Given the description of an element on the screen output the (x, y) to click on. 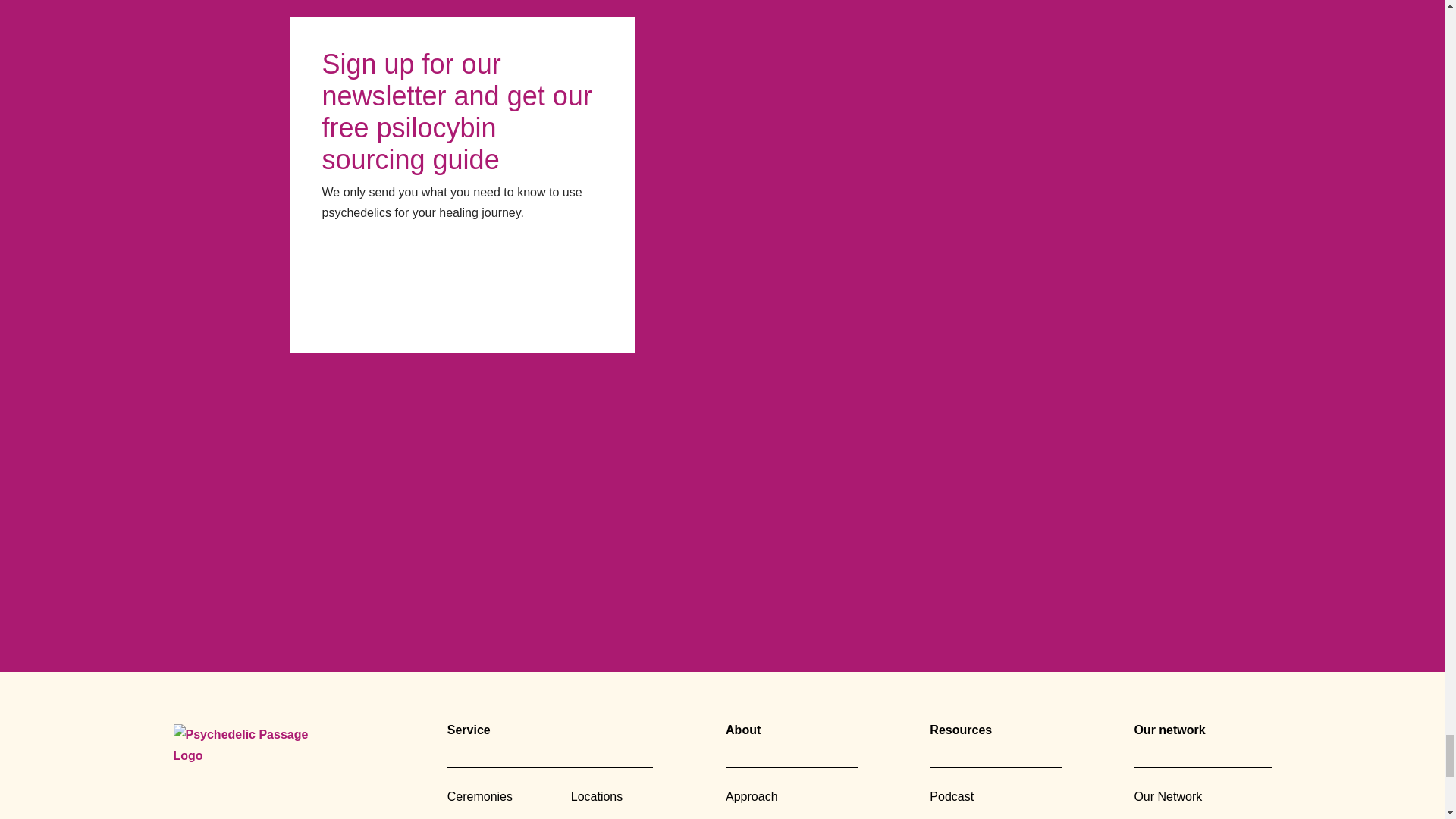
Psychedelic Passage Logo (253, 748)
